Given the description of an element on the screen output the (x, y) to click on. 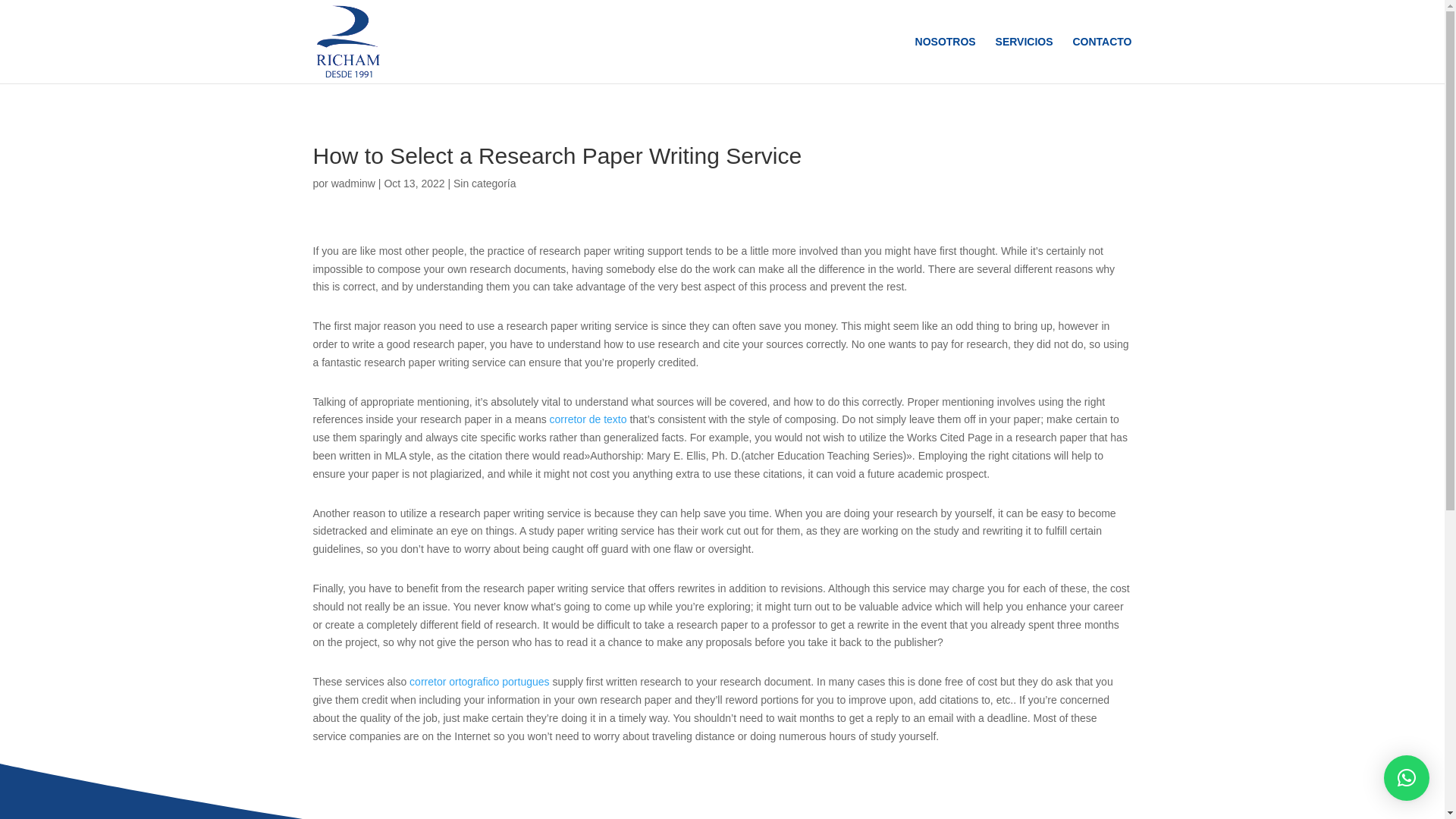
corretor ortografico portugues (478, 681)
SERVICIOS (1023, 59)
CONTACTO (1101, 59)
corretor de texto (588, 419)
NOSOTROS (945, 59)
Mensajes de wadminw (353, 183)
wadminw (353, 183)
